Given the description of an element on the screen output the (x, y) to click on. 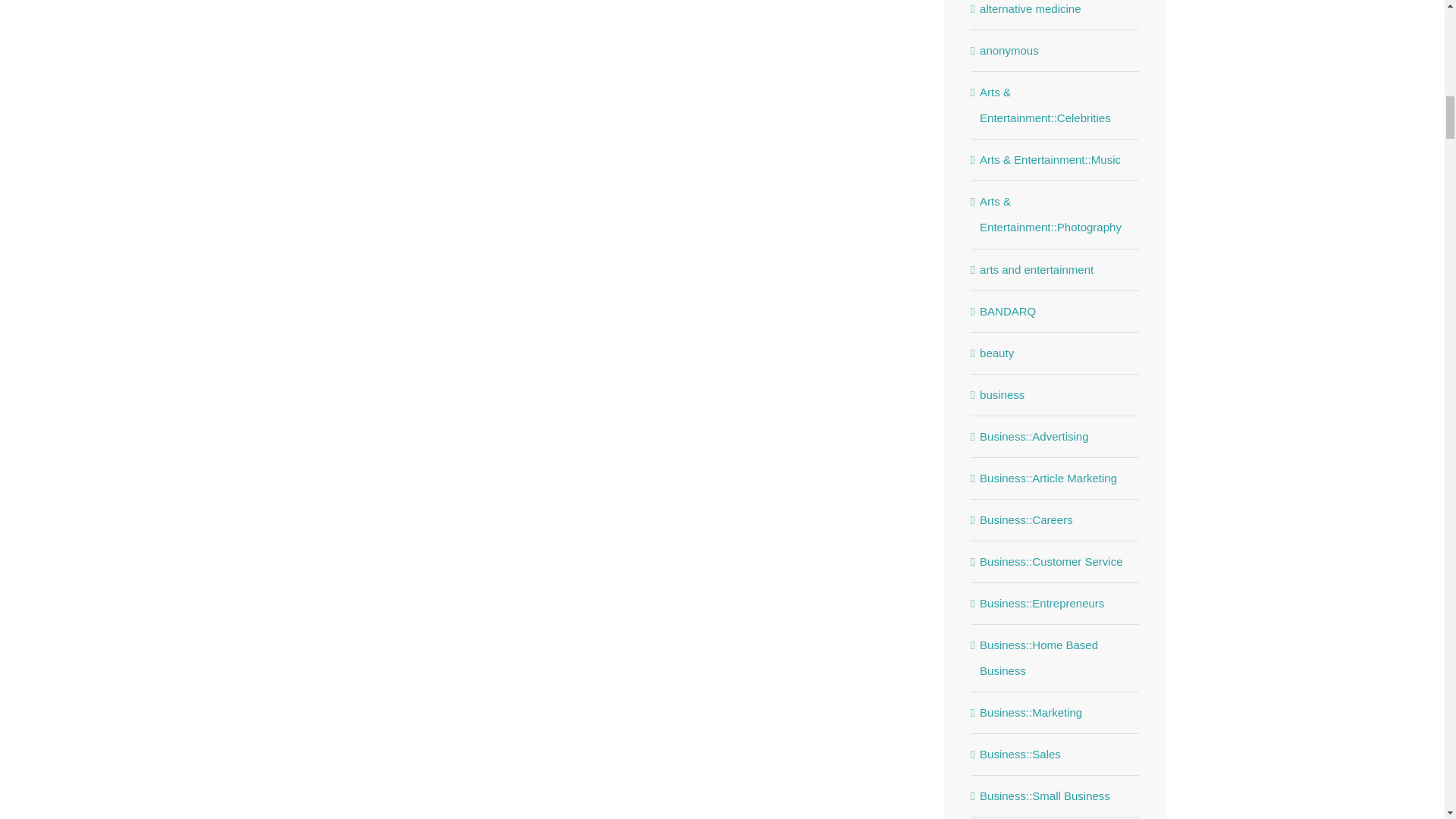
anonymous (1055, 50)
business (1055, 394)
BANDARQ (1055, 311)
beauty (1055, 353)
arts and entertainment (1055, 269)
alternative medicine (1055, 11)
